Given the description of an element on the screen output the (x, y) to click on. 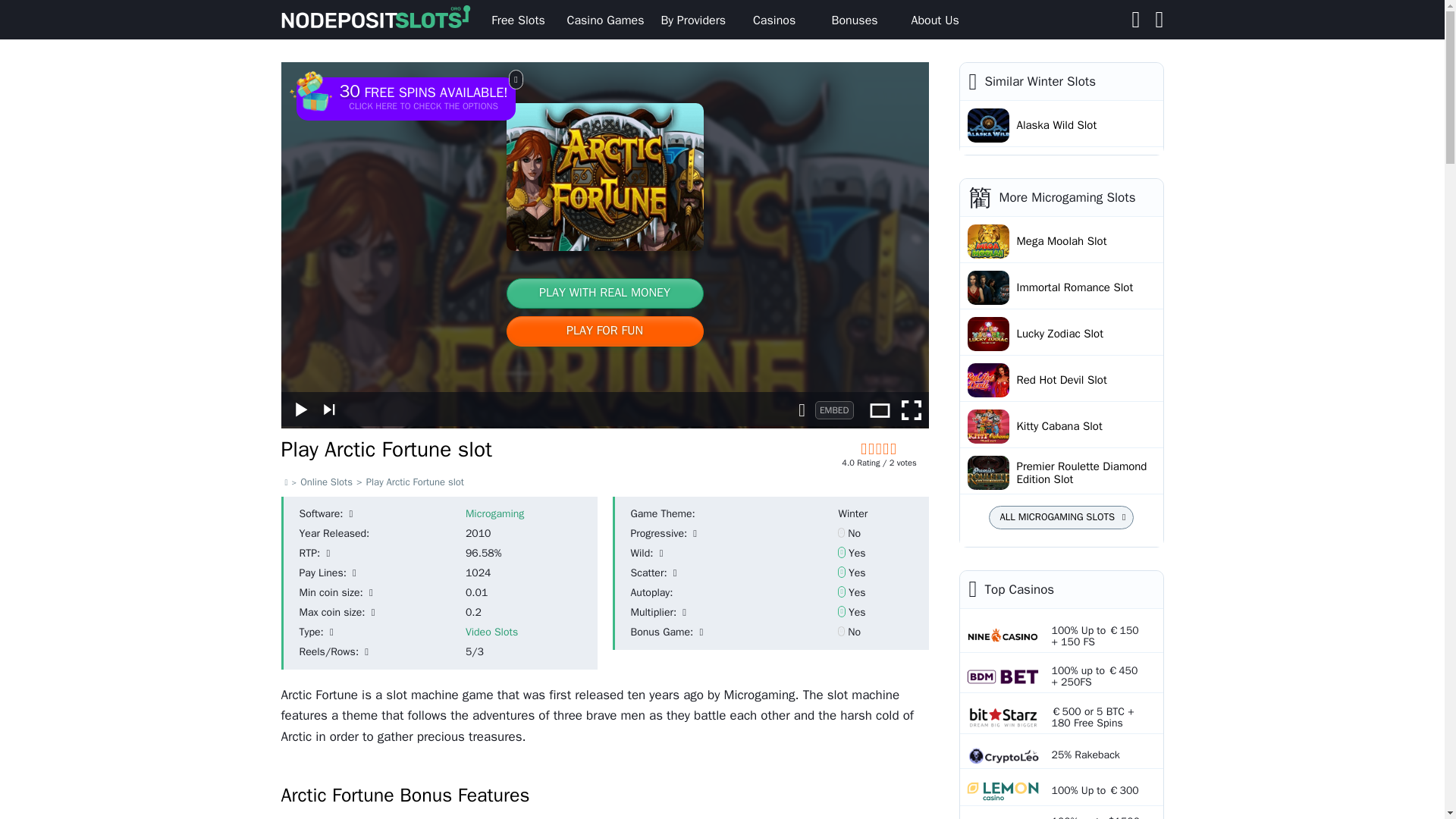
NoDepositSlots.org (379, 20)
Free Slots (518, 20)
By Providers (692, 20)
Casino Games (605, 20)
Free Slots (518, 20)
Casinos (774, 20)
Casino Games (605, 20)
By Providers (692, 20)
